Given the description of an element on the screen output the (x, y) to click on. 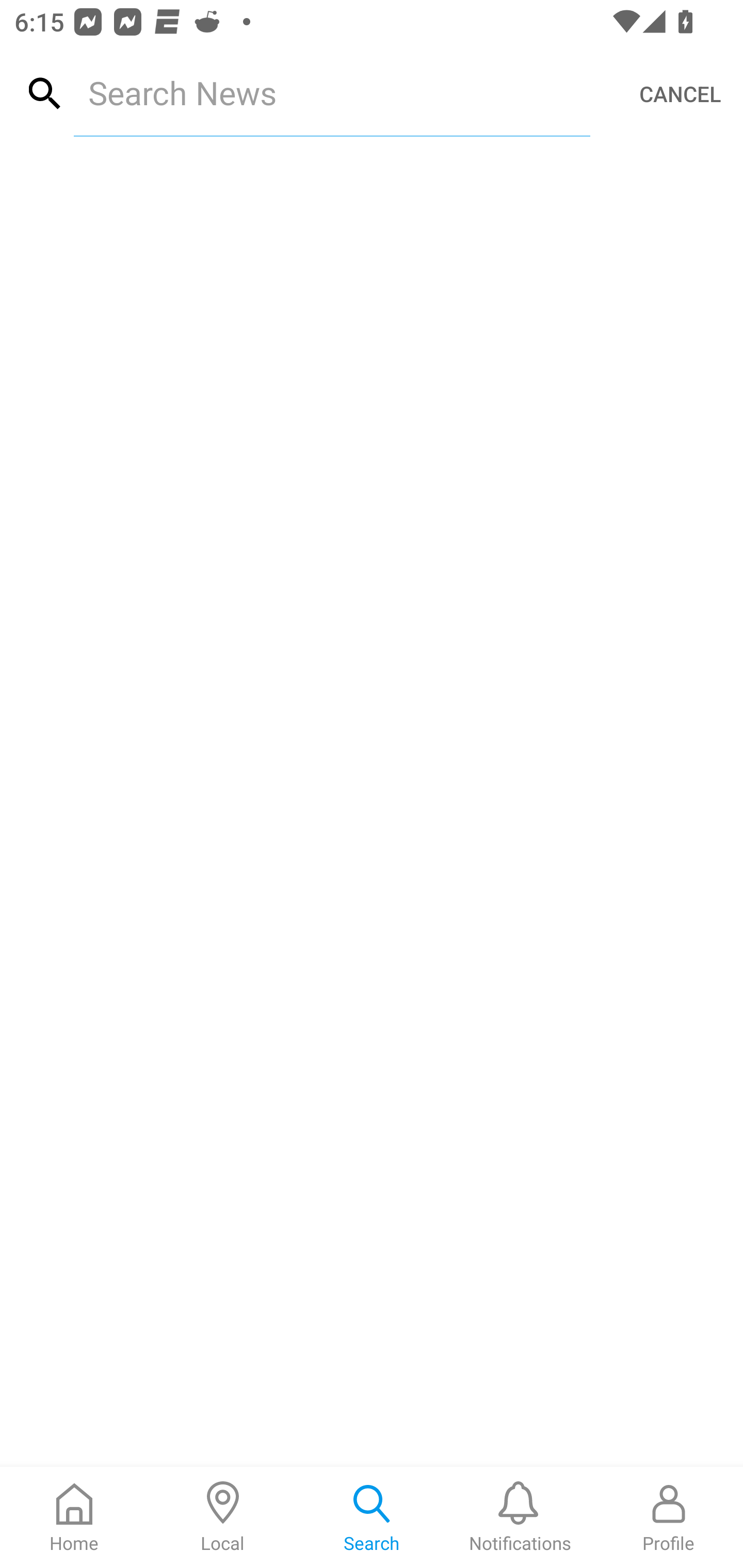
CANCEL (680, 93)
Search News (331, 92)
Home (74, 1517)
Local (222, 1517)
Notifications (519, 1517)
Profile (668, 1517)
